Given the description of an element on the screen output the (x, y) to click on. 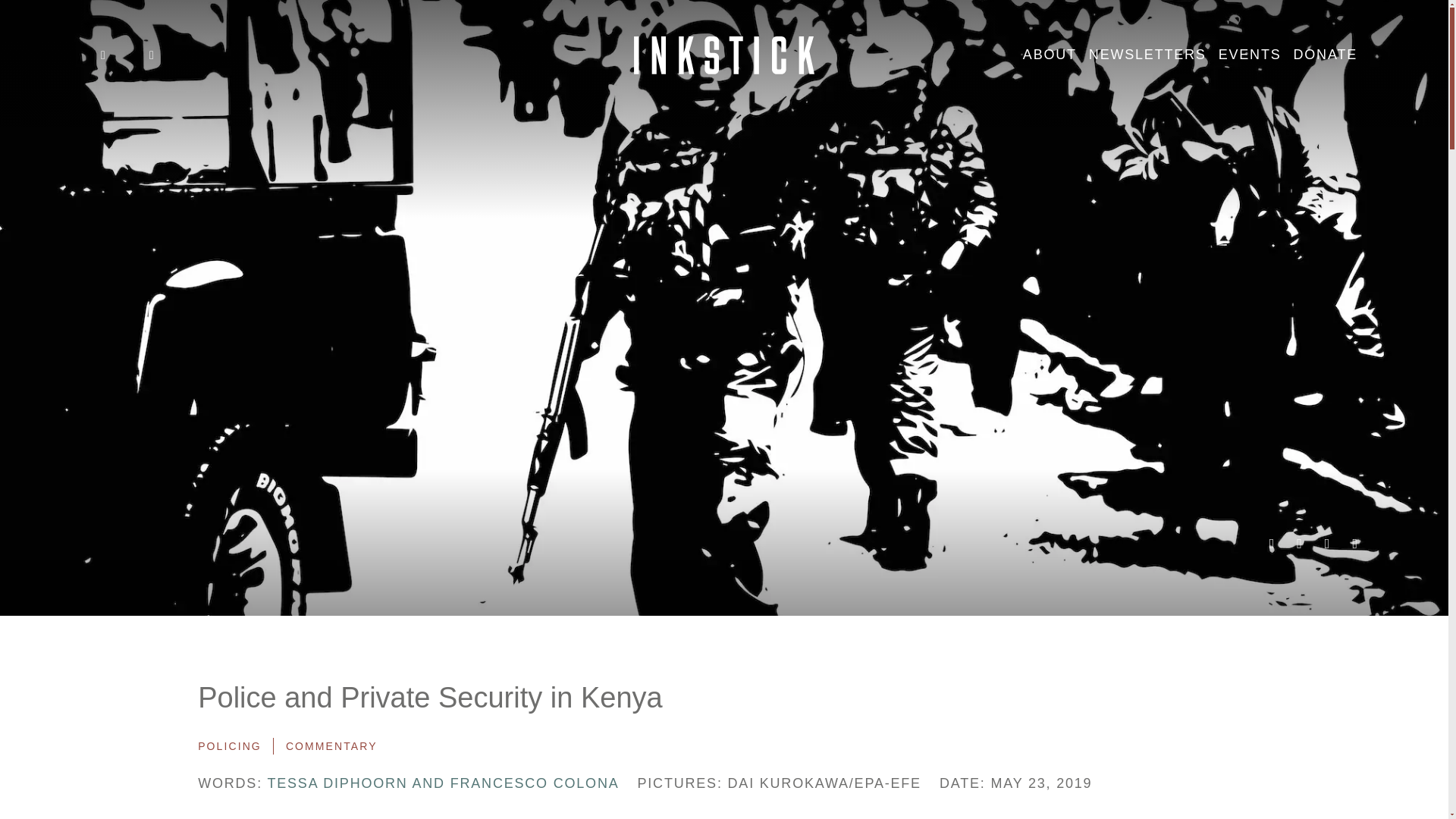
NEWSLETTERS (1148, 54)
EVENTS (1249, 54)
DONATE (1325, 54)
ABOUT (1050, 54)
